Given the description of an element on the screen output the (x, y) to click on. 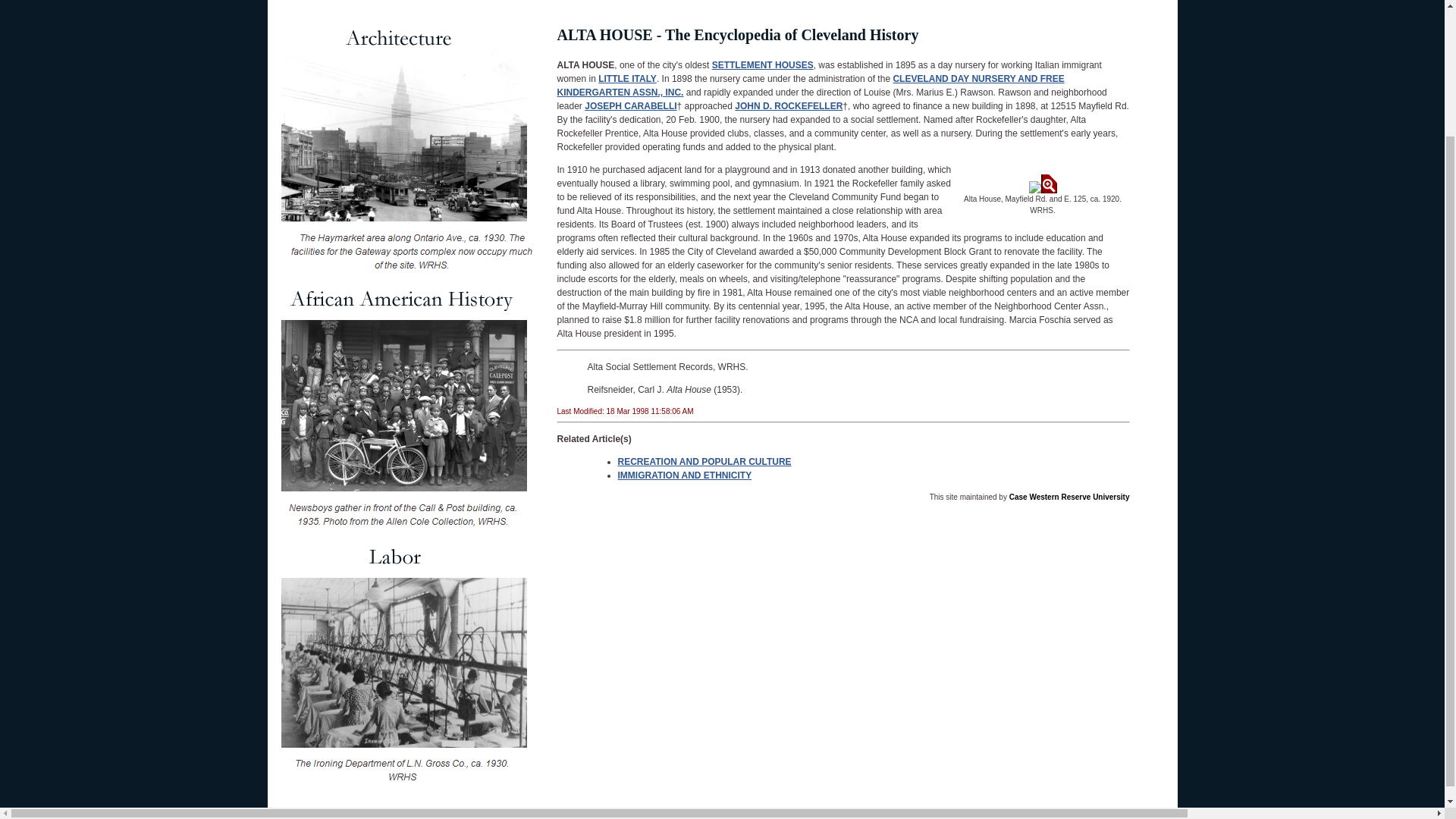
RECREATION AND POPULAR CULTURE (703, 461)
CLEVELAND DAY NURSERY AND FREE KINDERGARTEN ASSN., INC. (810, 85)
IMMIGRATION AND ETHNICITY (684, 475)
LITTLE ITALY (627, 78)
SETTLEMENT HOUSES (762, 64)
Case Western Reserve University (1069, 497)
JOHN D. ROCKEFELLER (789, 105)
JOSEPH CARABELLI (631, 105)
